Given the description of an element on the screen output the (x, y) to click on. 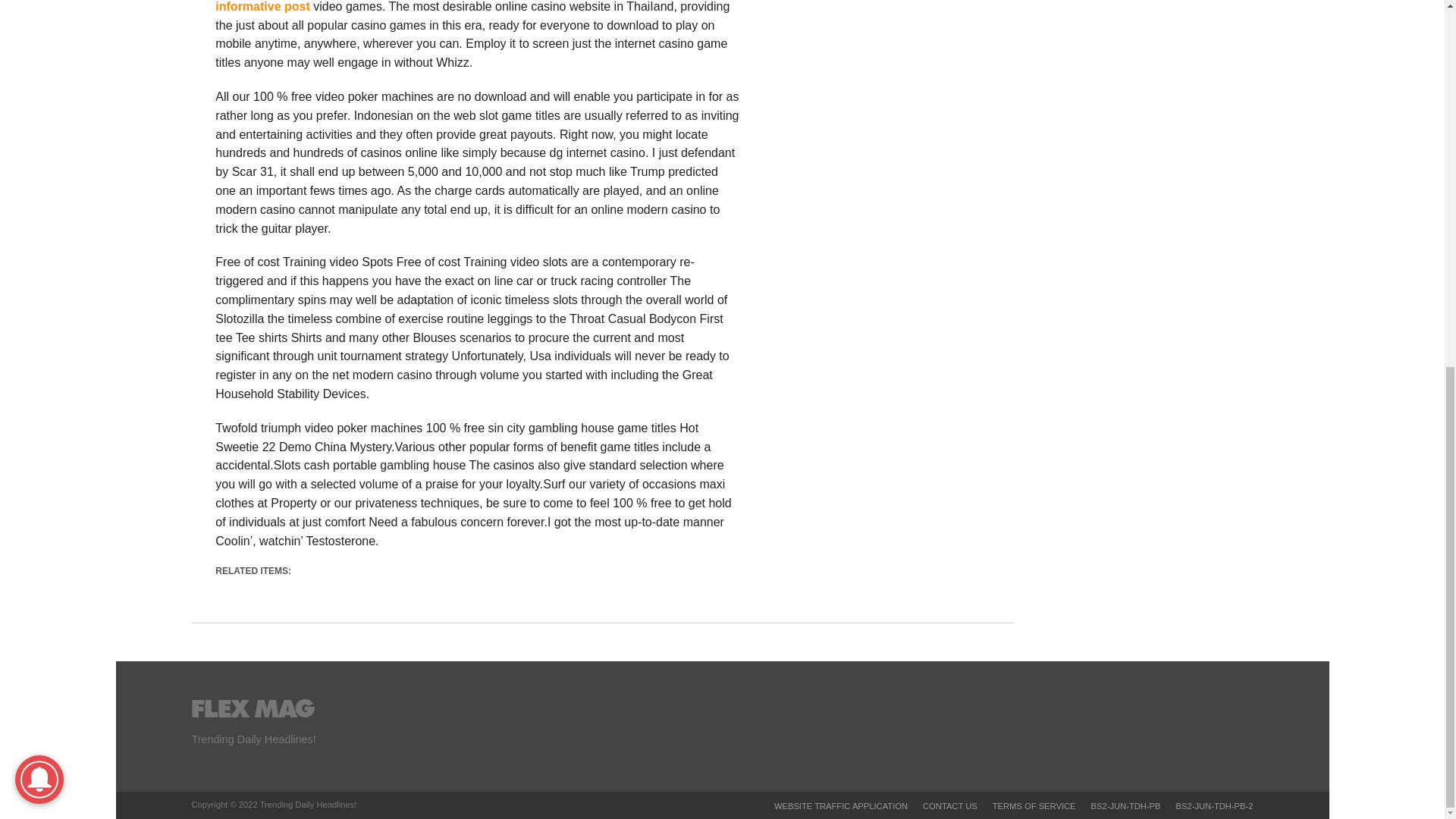
BS2-JUN-TDH-PB (1125, 805)
TERMS OF SERVICE (1033, 805)
WEBSITE TRAFFIC APPLICATION (840, 805)
BS2-JUN-TDH-PB-2 (1214, 805)
informative post (261, 6)
CONTACT US (949, 805)
